Given the description of an element on the screen output the (x, y) to click on. 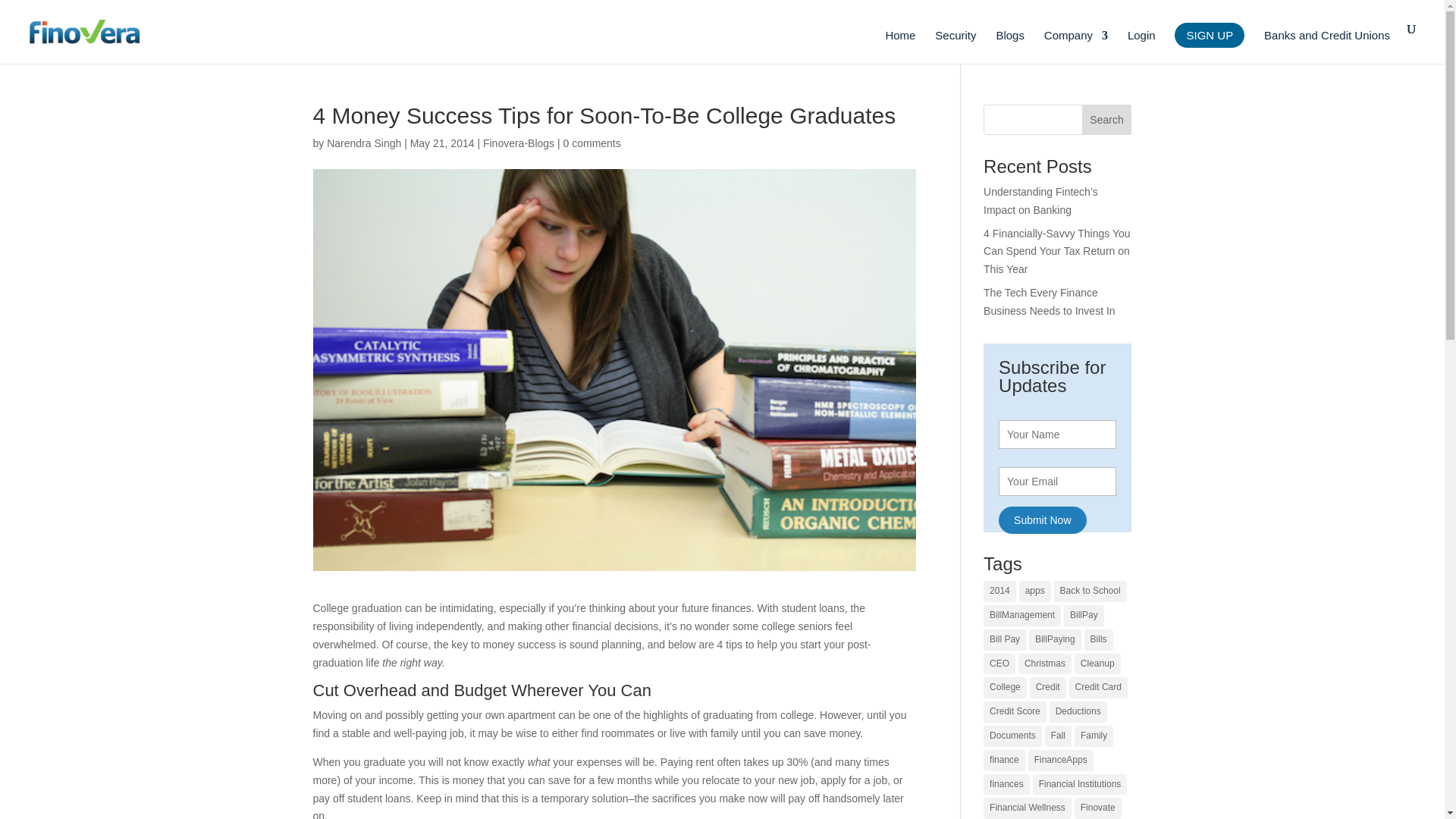
Submit Now (1042, 519)
CEO (999, 663)
Deductions (1077, 711)
Credit Score (1015, 711)
Banks and Credit Unions (1326, 46)
Narendra Singh (363, 143)
Bill Pay (1005, 639)
Security (954, 46)
Bills (1098, 639)
